Given the description of an element on the screen output the (x, y) to click on. 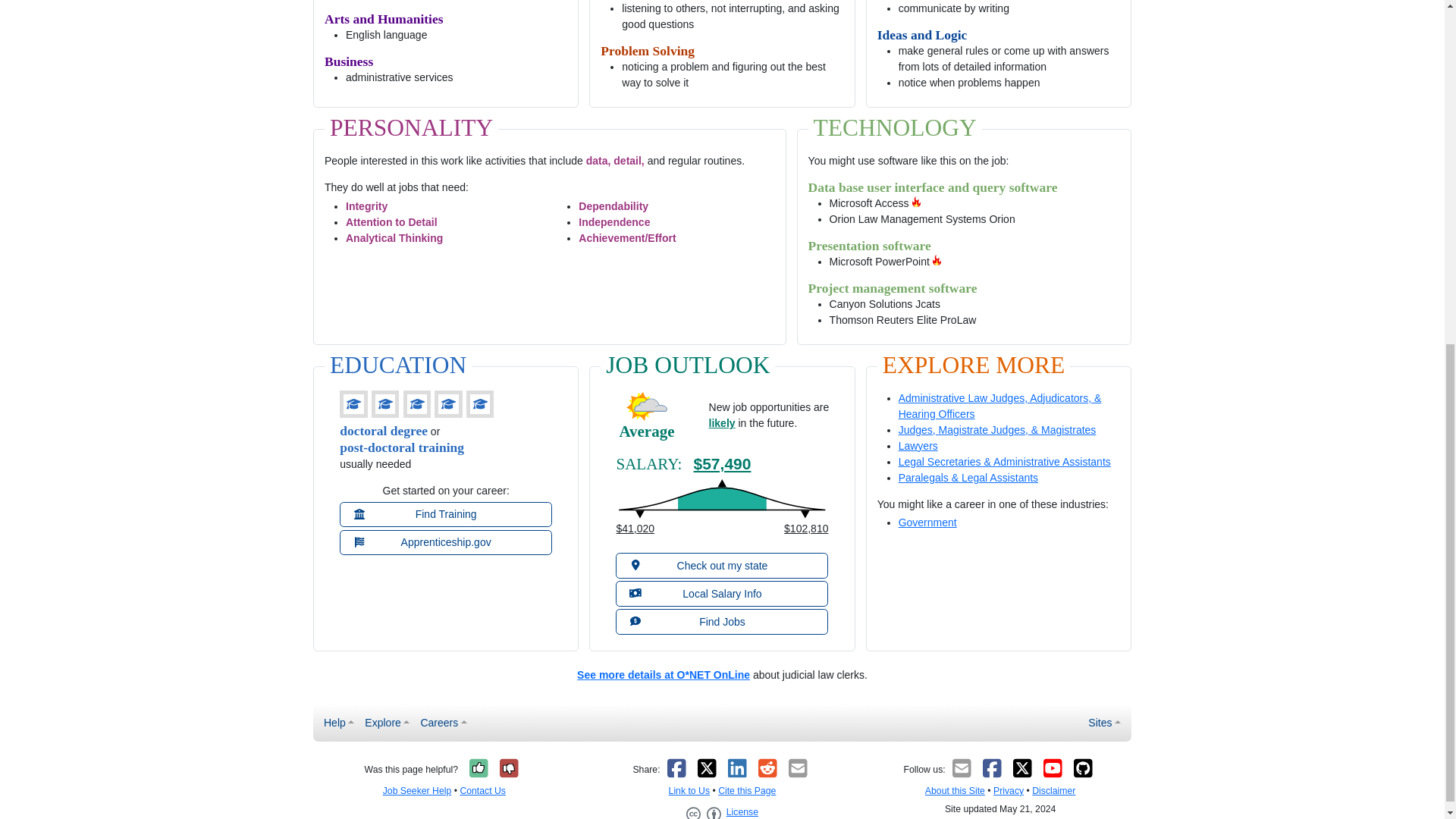
Check out my state (721, 565)
Careers (442, 723)
Explore (386, 723)
Lawyers (917, 445)
Help (338, 723)
Government (927, 522)
